Given the description of an element on the screen output the (x, y) to click on. 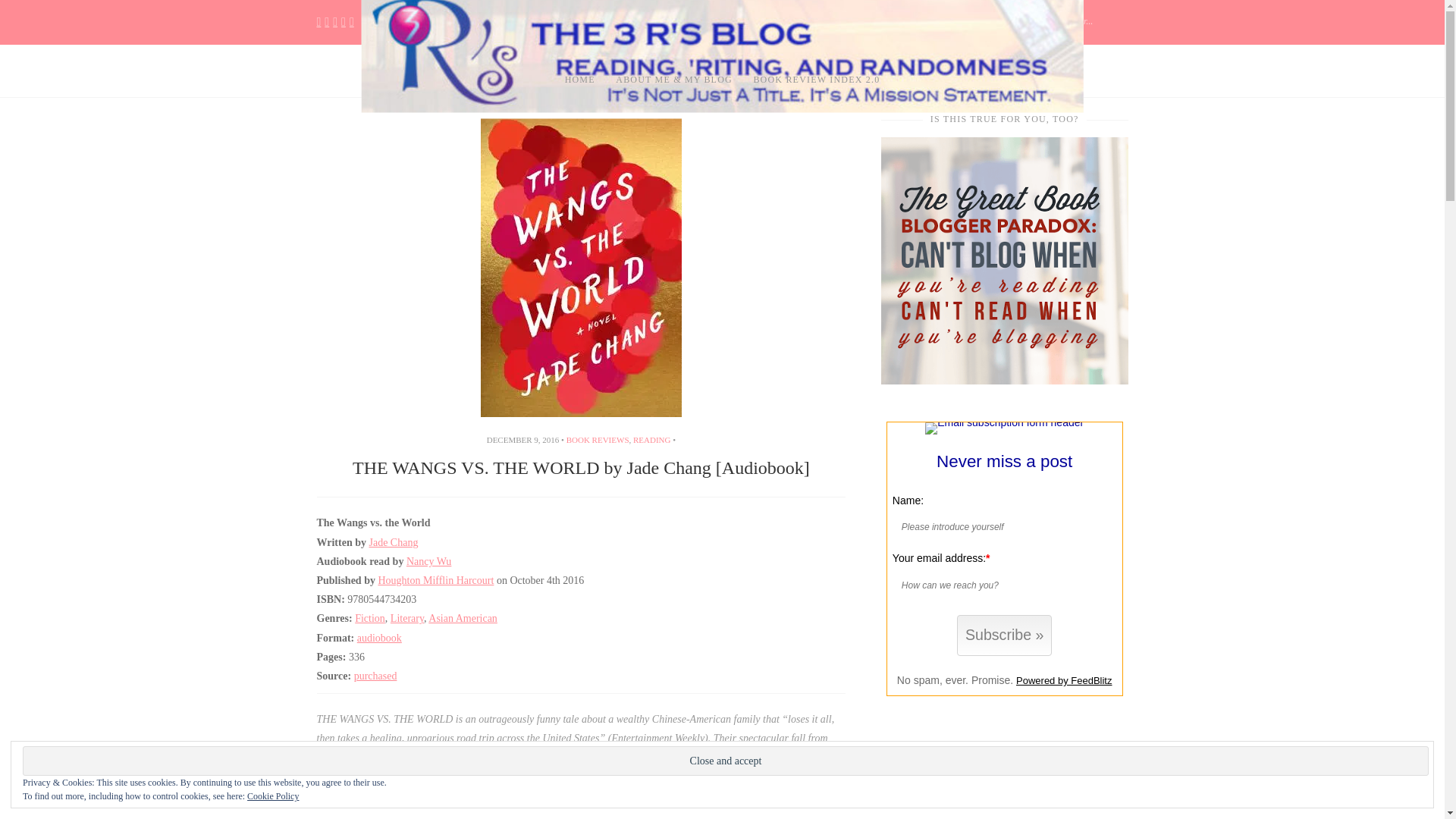
audiobook (378, 637)
THE 3 R'S: READING, 'RITING, AND RANDOMNESS (721, 149)
READING (652, 439)
Literary (406, 618)
HOME (580, 80)
Search (1141, 17)
Nancy Wu (428, 561)
Search (1141, 17)
purchased (375, 675)
Please introduce yourself (1000, 526)
Close and accept (725, 760)
Jade Chang (392, 542)
How can we reach you? (1000, 584)
Fiction (370, 618)
Close and accept (725, 760)
